Given the description of an element on the screen output the (x, y) to click on. 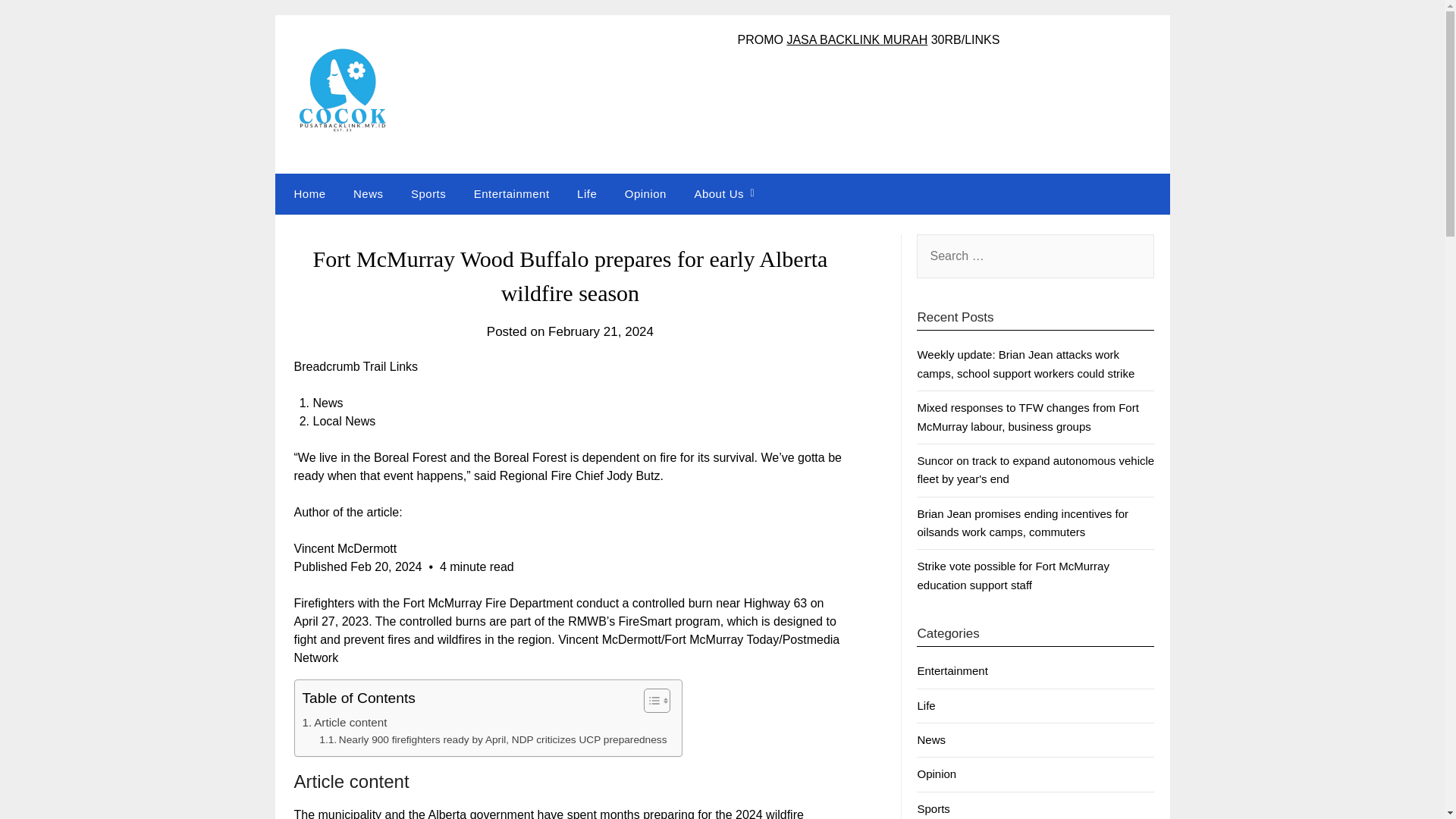
Sports (933, 808)
Home (306, 193)
Search (38, 22)
Entertainment (511, 193)
Entertainment (952, 670)
Opinion (936, 773)
JASA BACKLINK MURAH (856, 39)
